Given the description of an element on the screen output the (x, y) to click on. 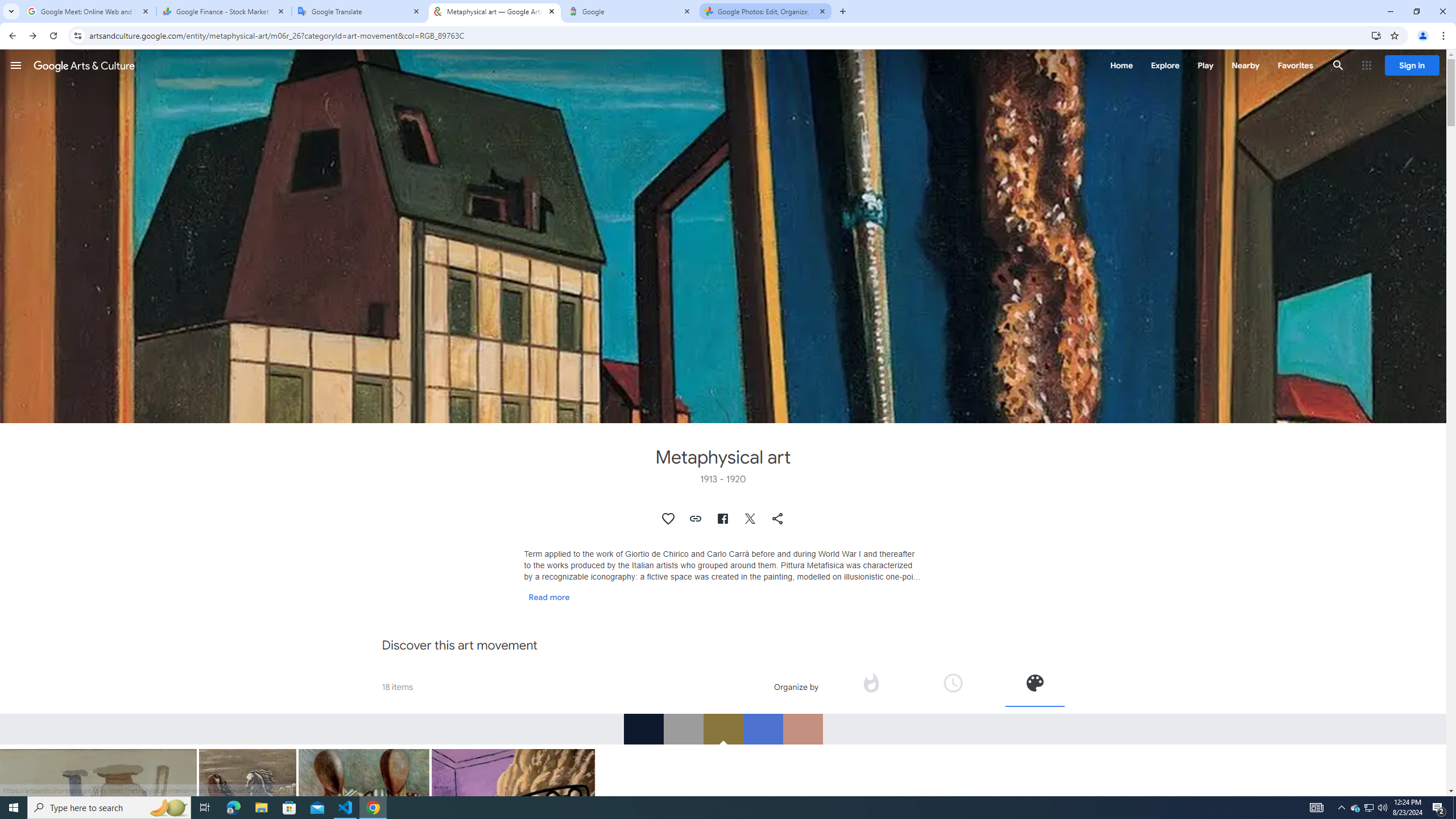
Organize by time (951, 682)
Google (630, 11)
Favorites (1295, 65)
Home (1120, 65)
